Given the description of an element on the screen output the (x, y) to click on. 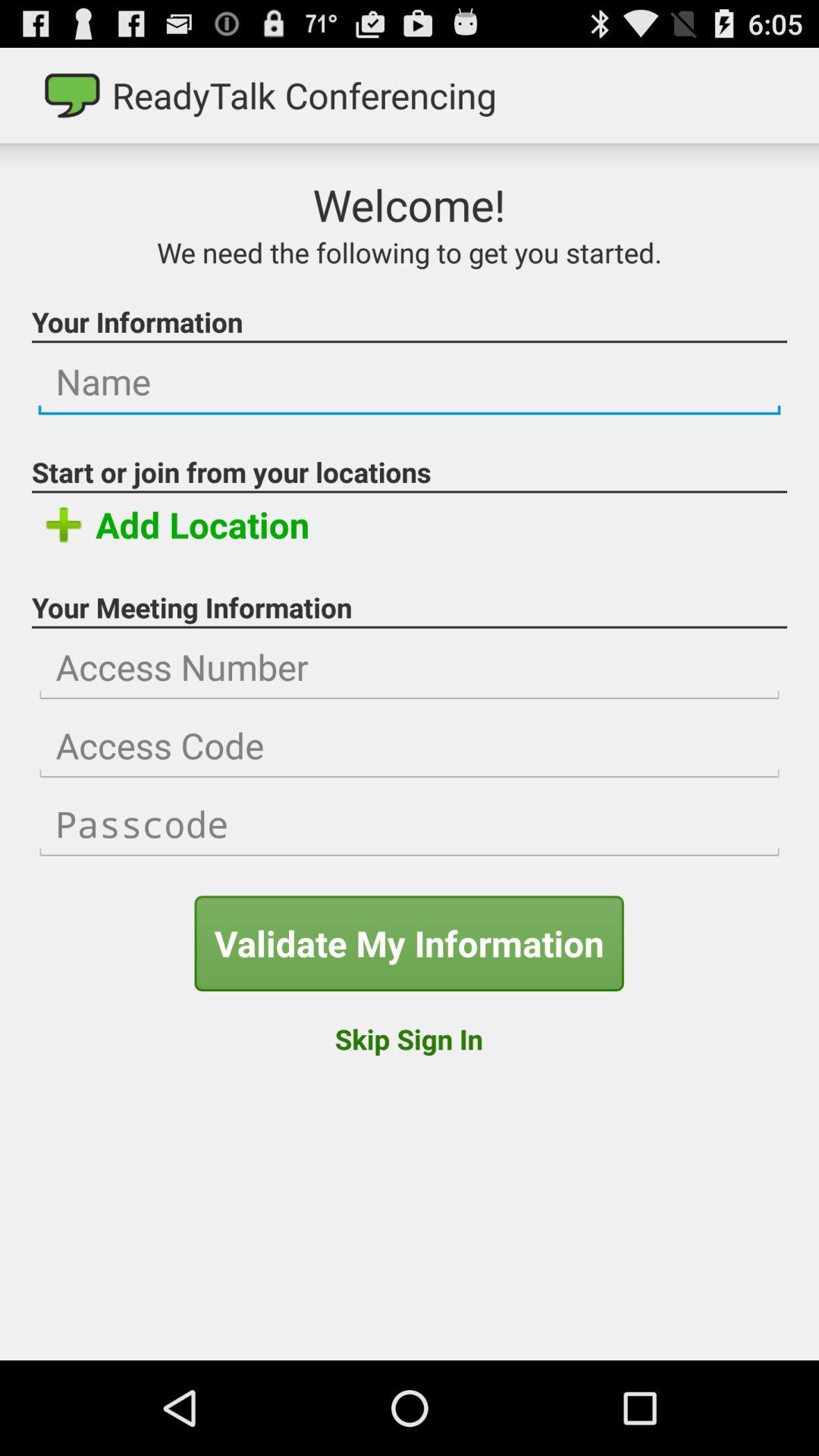
input passcode (409, 824)
